Given the description of an element on the screen output the (x, y) to click on. 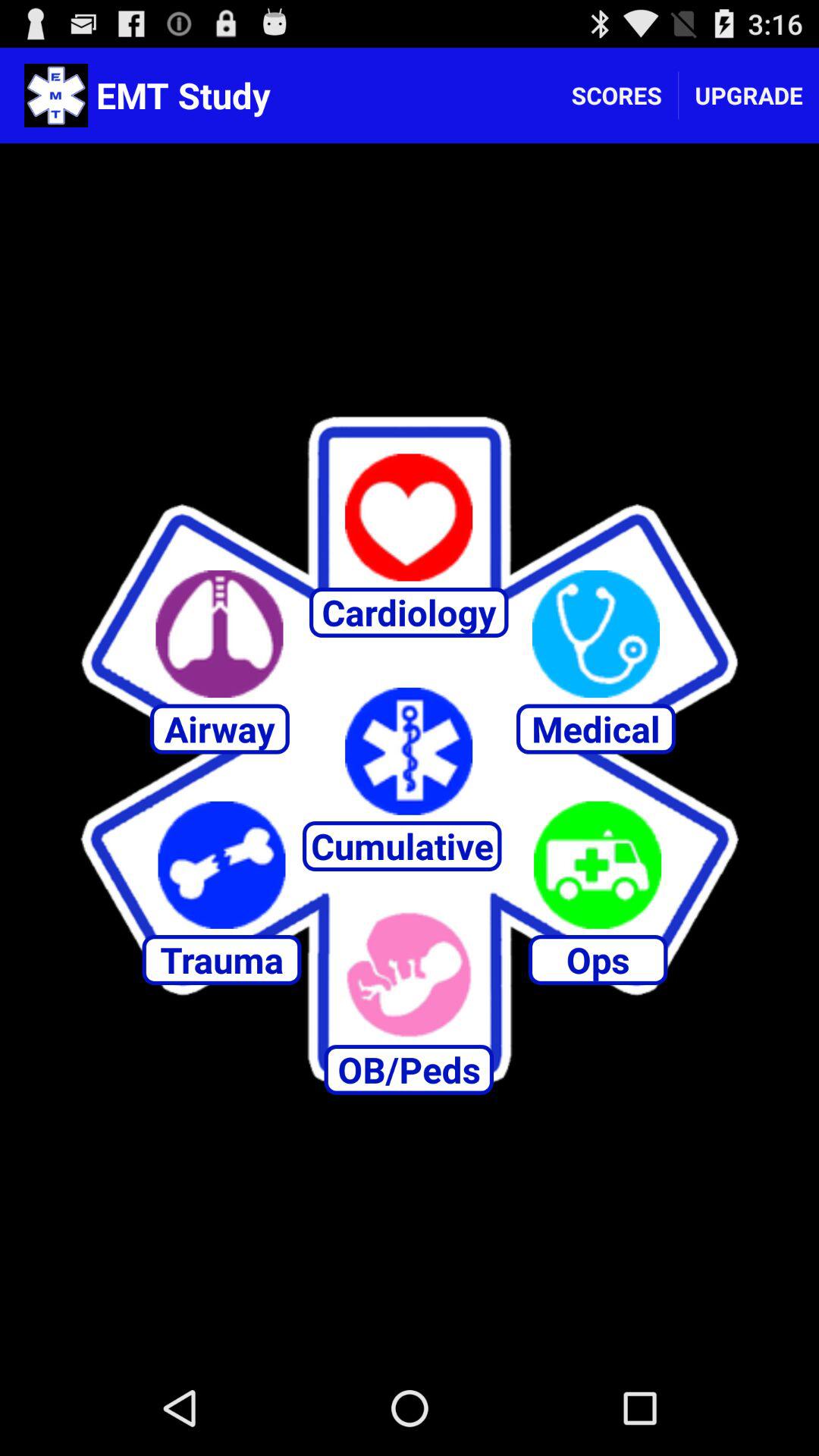
go to medical app (595, 633)
